Given the description of an element on the screen output the (x, y) to click on. 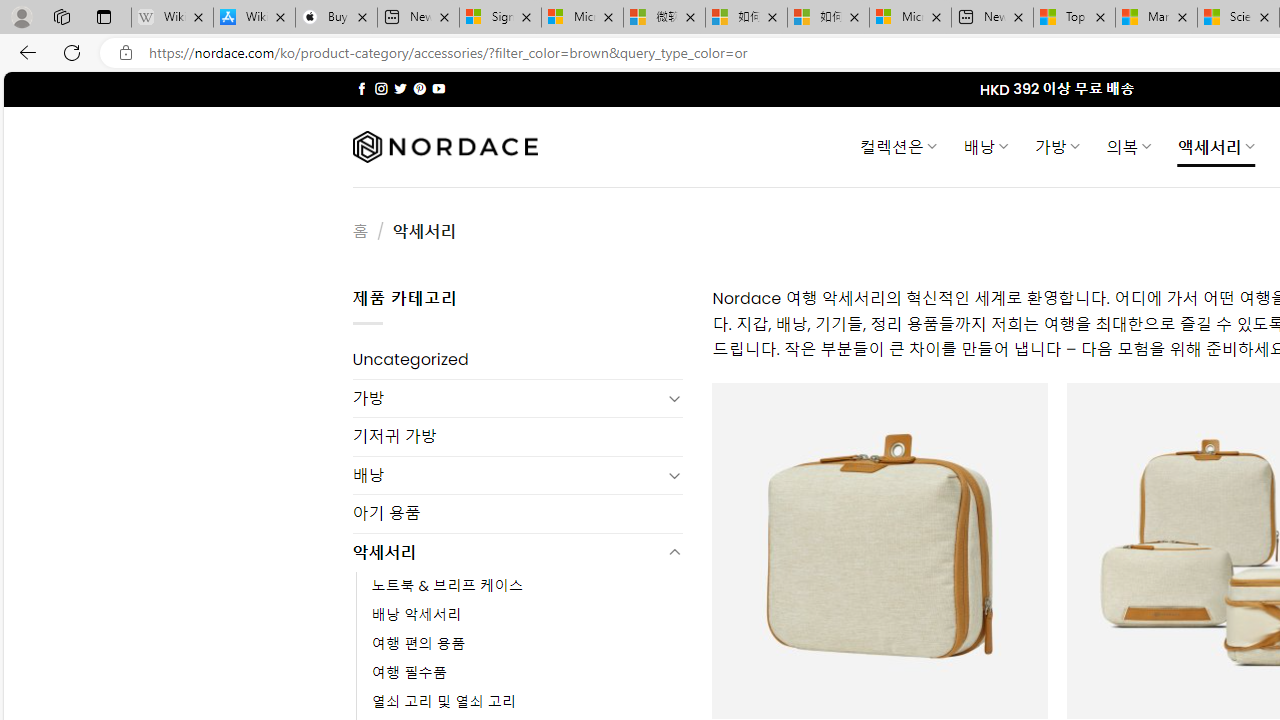
Uncategorized (517, 359)
Buy iPad - Apple (336, 17)
